Given the description of an element on the screen output the (x, y) to click on. 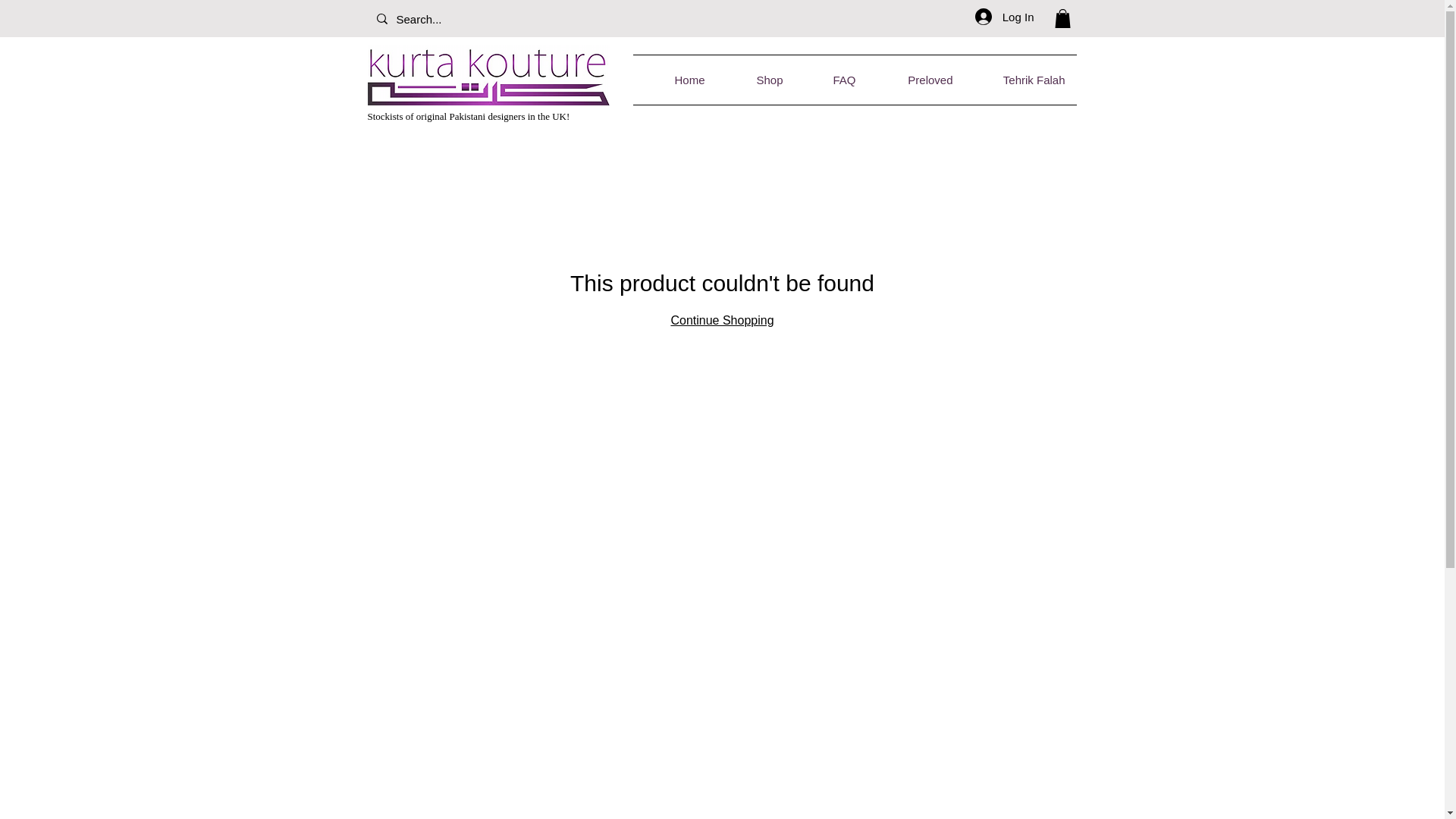
Tehrik Falah (1020, 79)
Preloved (915, 79)
Shop (754, 79)
Home (673, 79)
Continue Shopping (721, 319)
Log In (1004, 16)
FAQ (830, 79)
